Given the description of an element on the screen output the (x, y) to click on. 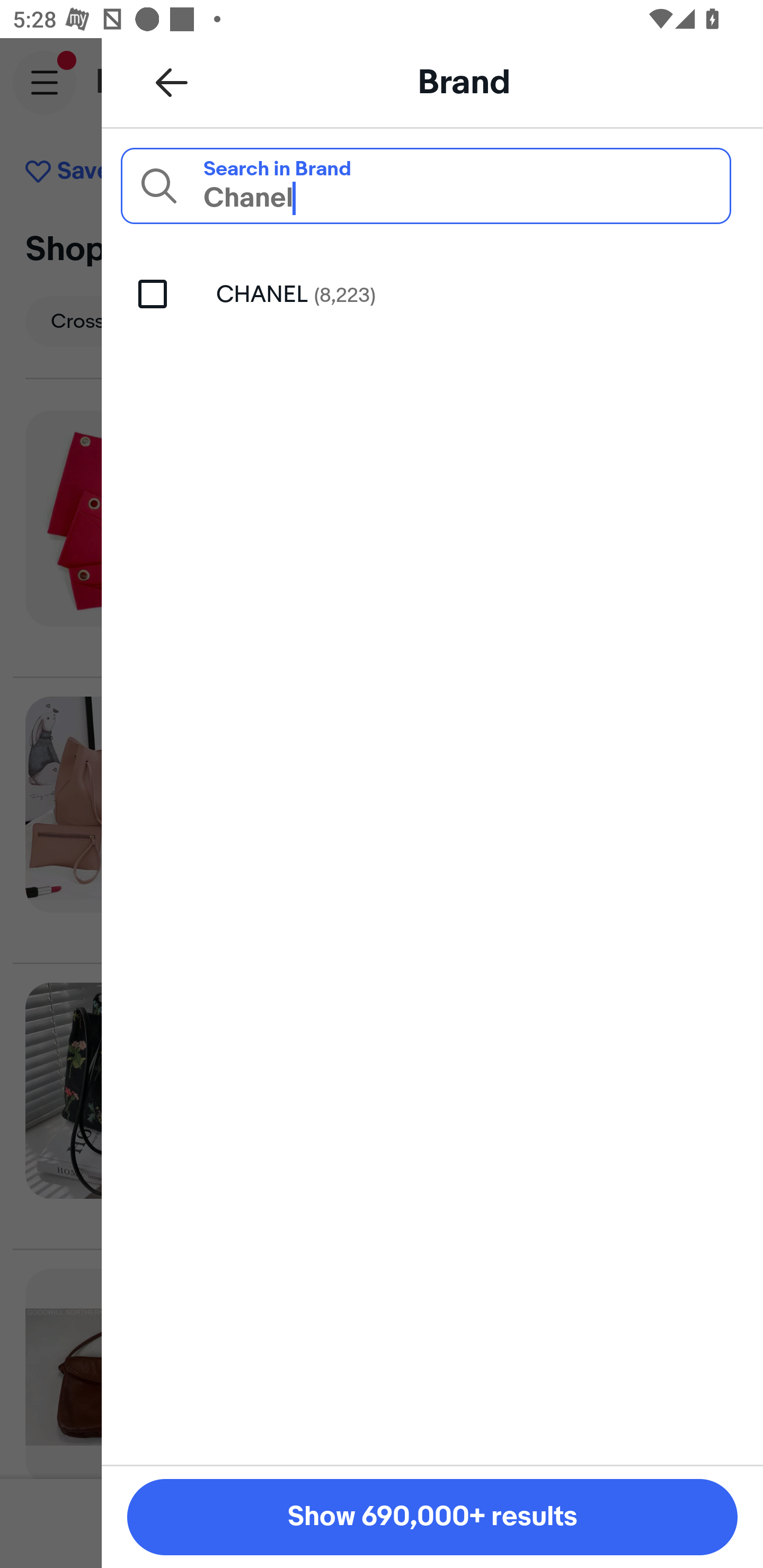
Back to all refinements (171, 81)
Chanel (425, 185)
CHANEL (8,223) (432, 293)
Show 690,000+ results (432, 1516)
